Given the description of an element on the screen output the (x, y) to click on. 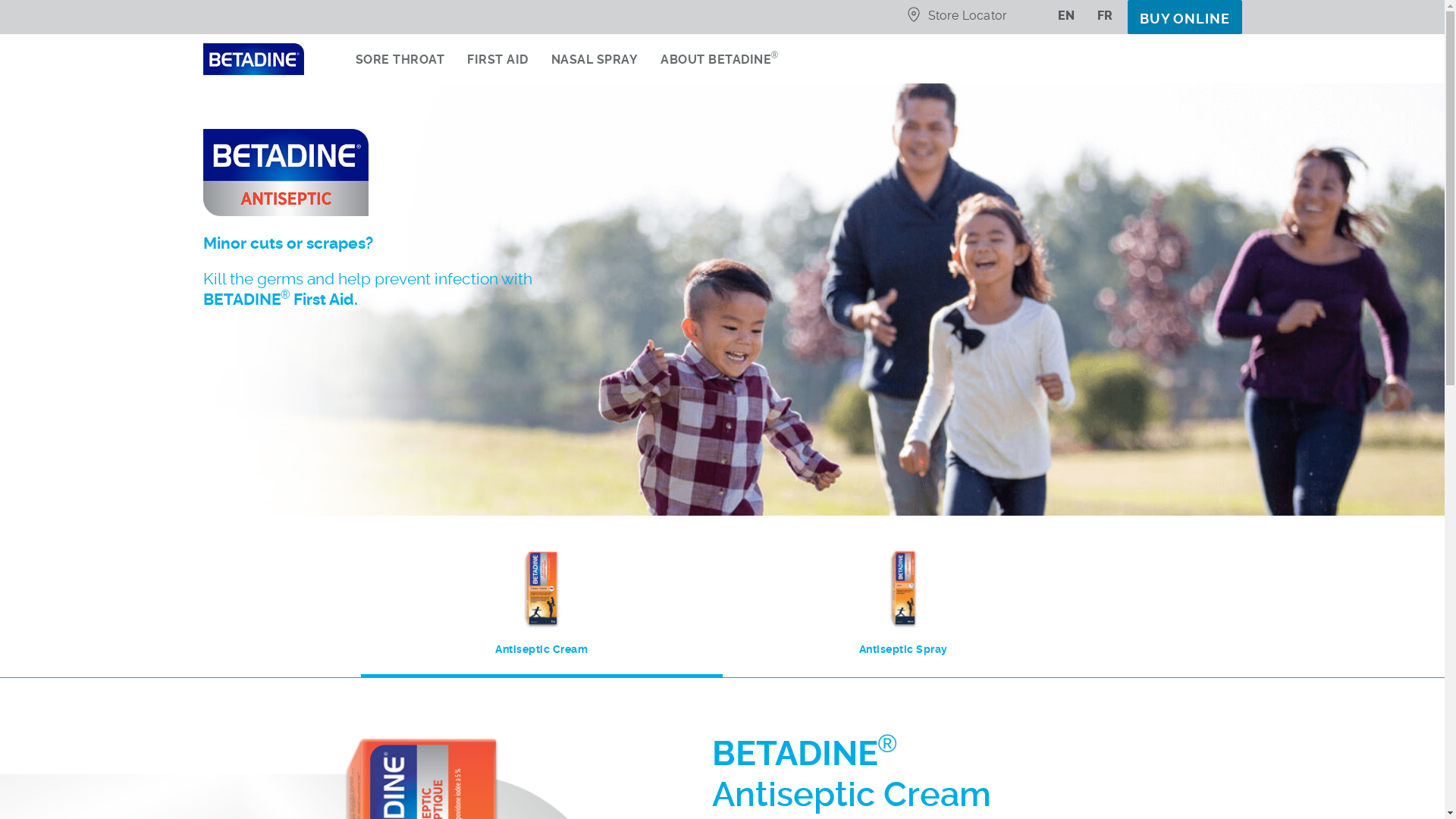
Store Locator Element type: text (956, 20)
FR Element type: text (1093, 20)
BUY ONLINE Element type: text (1184, 17)
FIRST AID Element type: text (497, 66)
EN Element type: text (1054, 20)
NASAL SPRAY Element type: text (593, 66)
BUY ONLINE Element type: text (1176, 17)
SORE THROAT Element type: text (399, 66)
